Given the description of an element on the screen output the (x, y) to click on. 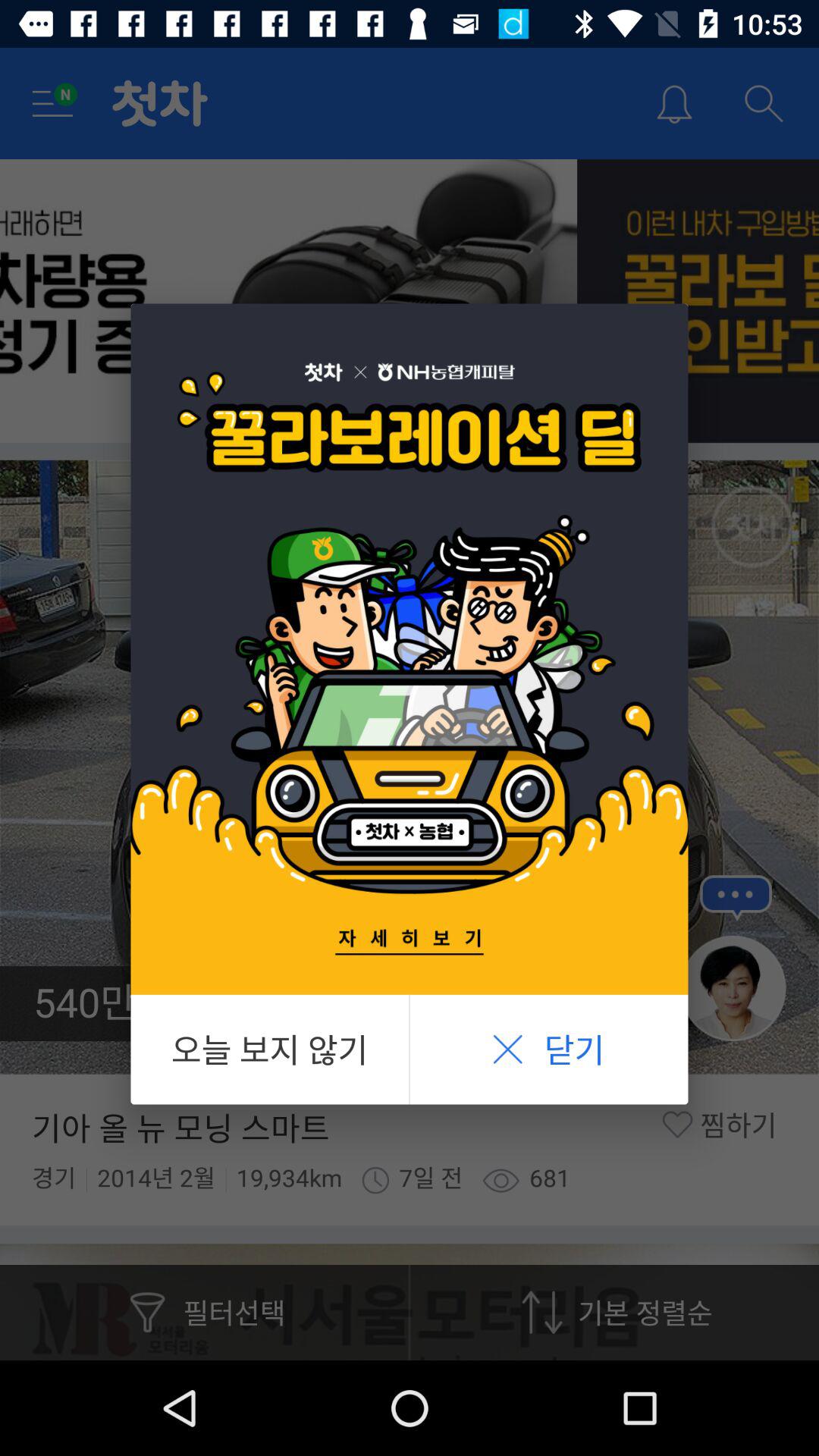
turn off icon at the bottom left corner (269, 1049)
